Given the description of an element on the screen output the (x, y) to click on. 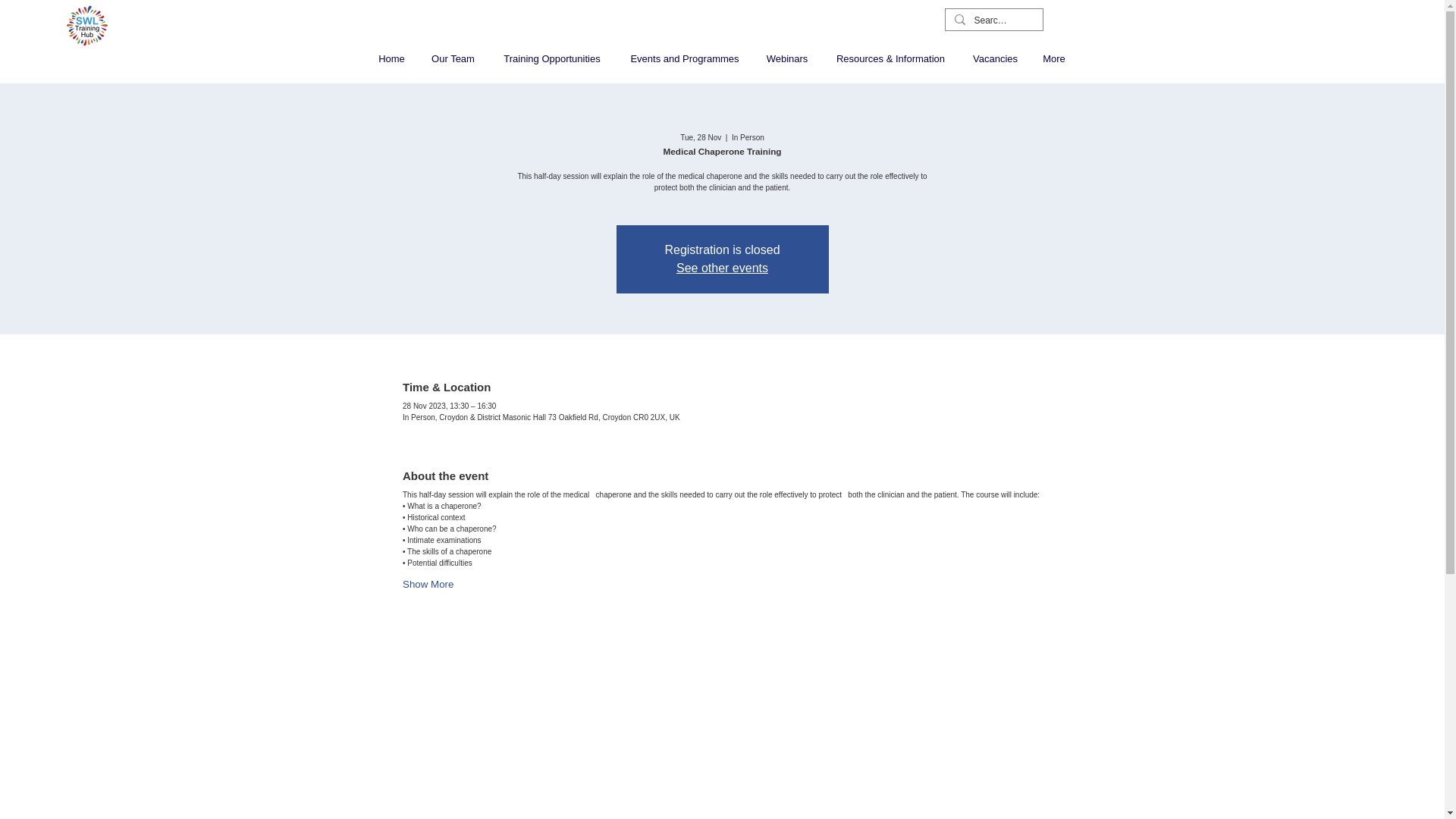
See other events (722, 267)
Webinars (787, 58)
Training Opportunities (551, 58)
Home (392, 58)
Show More (427, 584)
Events and Programmes (683, 58)
Our Team (453, 58)
